Given the description of an element on the screen output the (x, y) to click on. 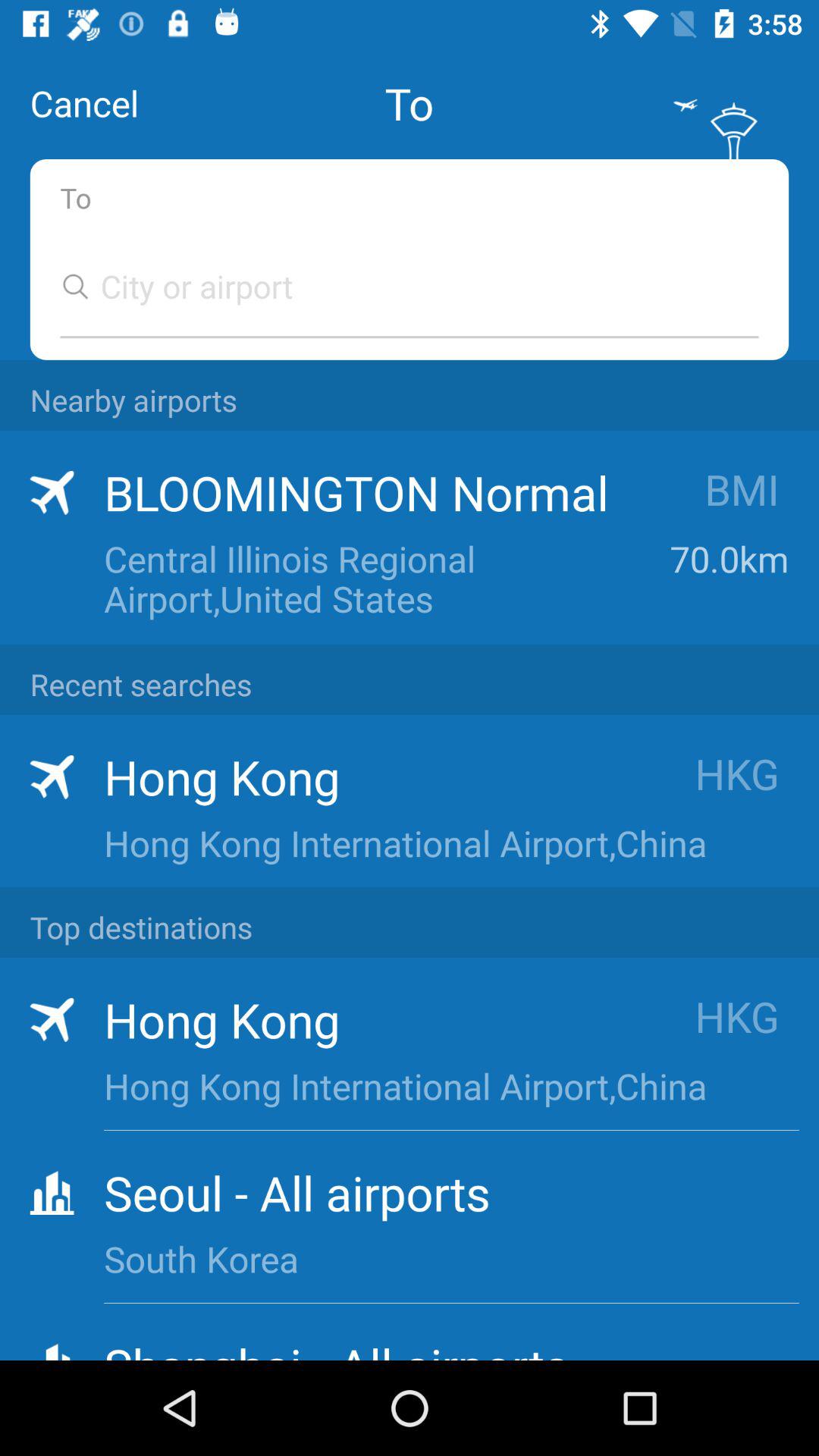
turn on the item below to (394, 286)
